Given the description of an element on the screen output the (x, y) to click on. 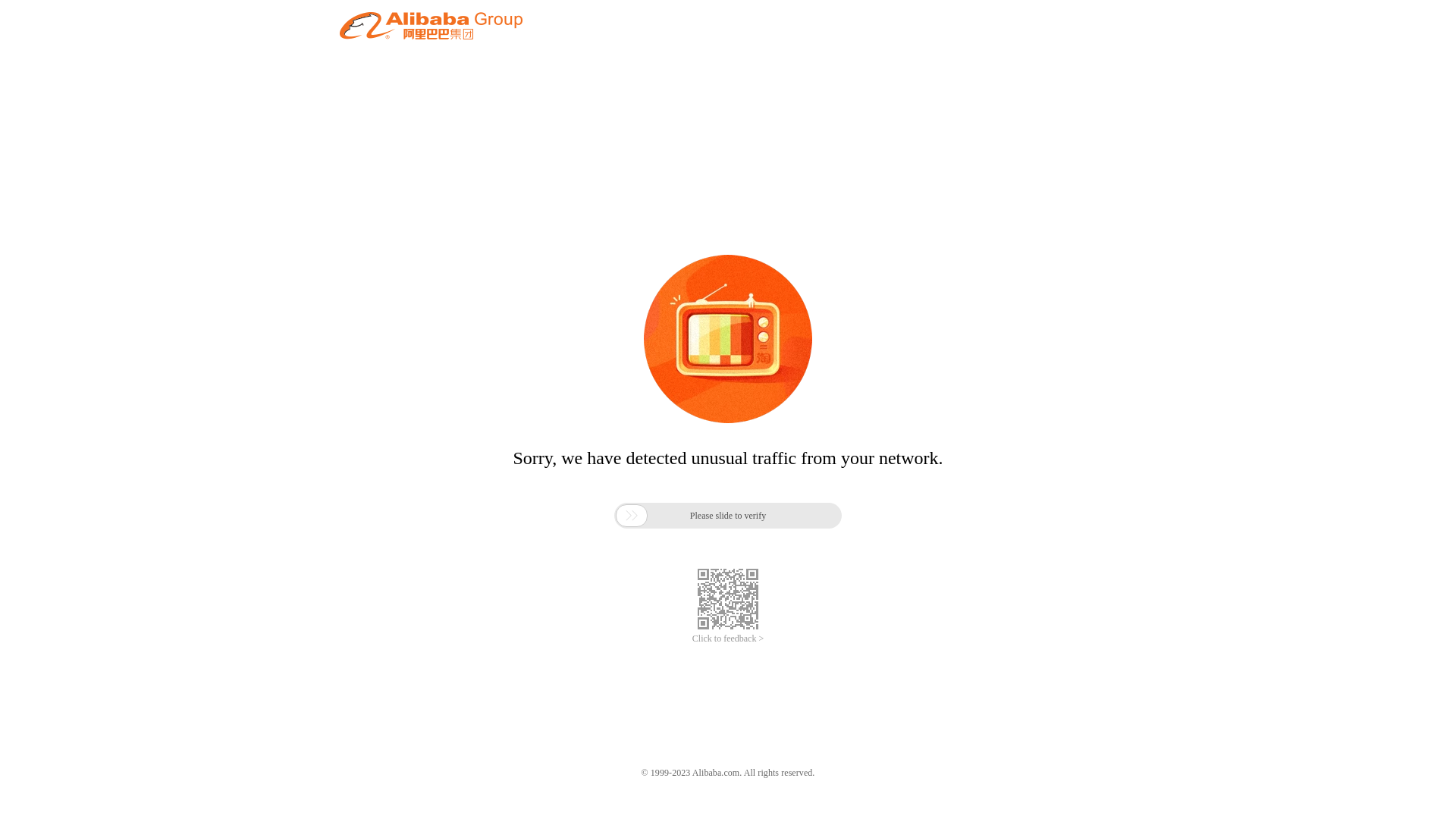
Click to feedback > Element type: text (727, 638)
